Given the description of an element on the screen output the (x, y) to click on. 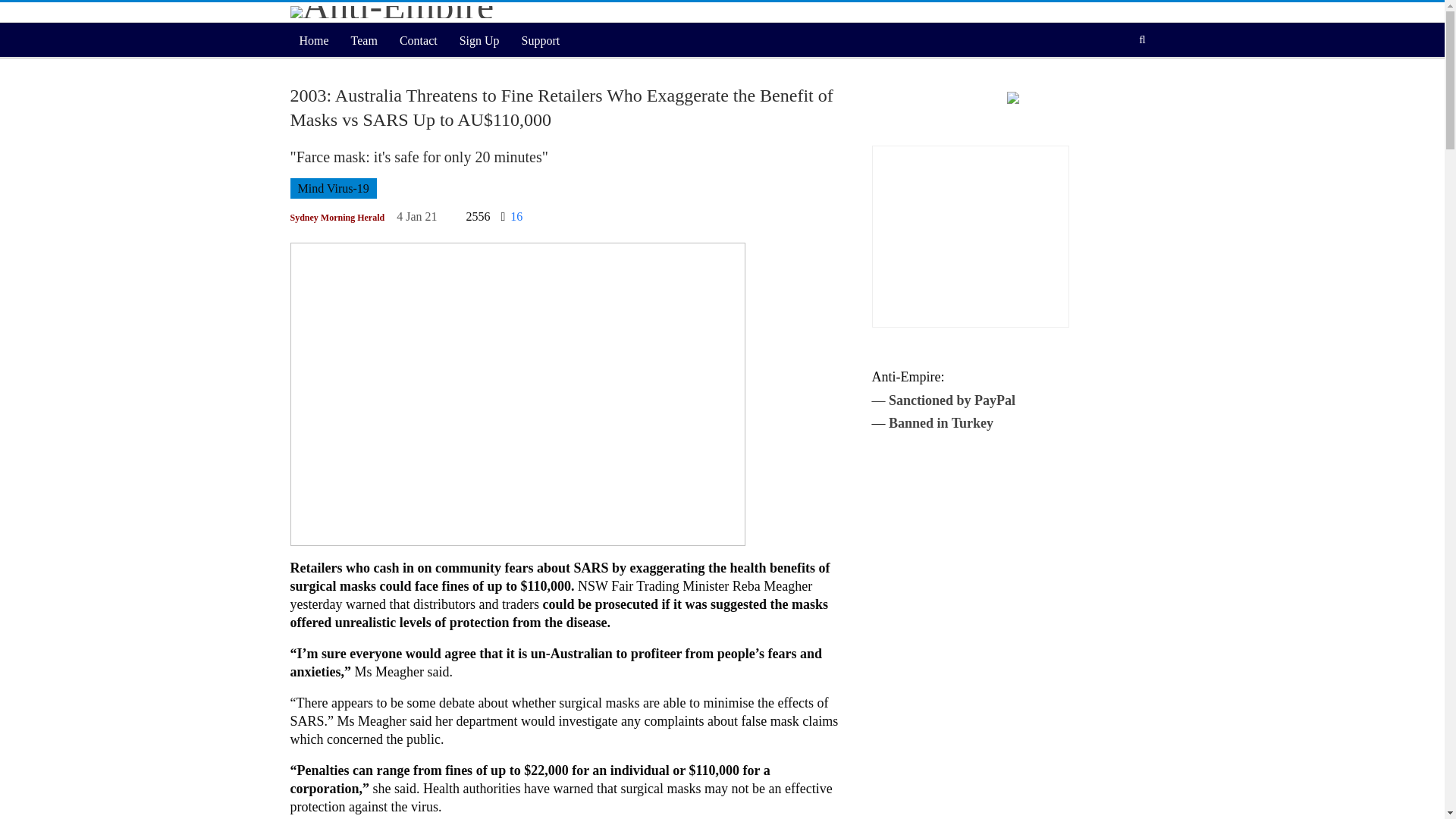
Contact (418, 40)
Sydney Morning Herald (336, 217)
Support (540, 40)
16 (511, 216)
Home (313, 40)
Mind Virus-19 (332, 188)
Team (364, 40)
Browse Author Articles (336, 217)
Sign Up (478, 40)
